Given the description of an element on the screen output the (x, y) to click on. 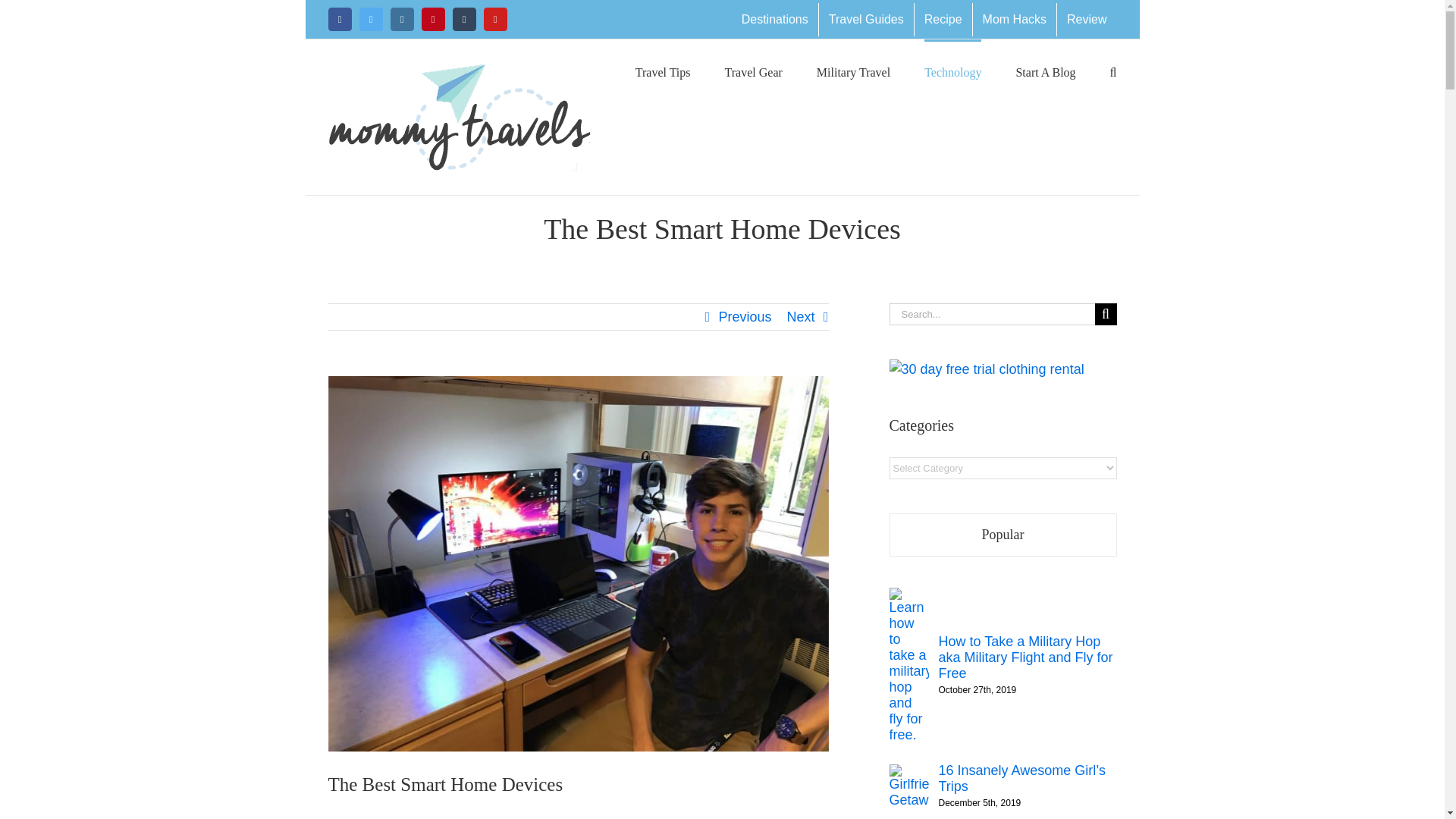
Tumblr (463, 19)
Twitter (370, 19)
Instagram (401, 19)
Facebook (338, 19)
Tumblr (463, 19)
Destinations (775, 19)
YouTube (494, 19)
Pinterest (433, 19)
Twitter (370, 19)
